Given the description of an element on the screen output the (x, y) to click on. 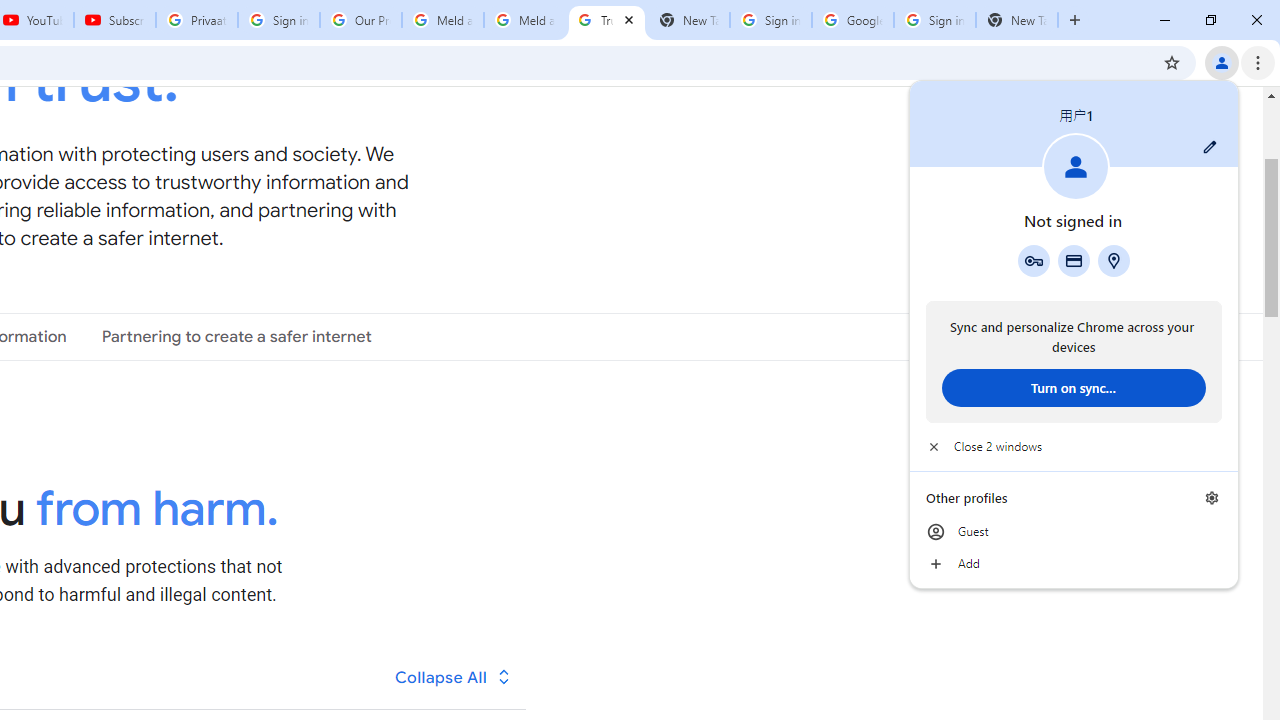
Collapse All (454, 677)
Sign in - Google Accounts (934, 20)
Partnering to create a safer internet (236, 336)
Sign in - Google Accounts (770, 20)
Addresses and more (1114, 260)
Close 2 windows (1073, 446)
Google Cybersecurity Innovations - Google Safety Center (852, 20)
Add (1073, 563)
Sign in - Google Accounts (278, 20)
